Given the description of an element on the screen output the (x, y) to click on. 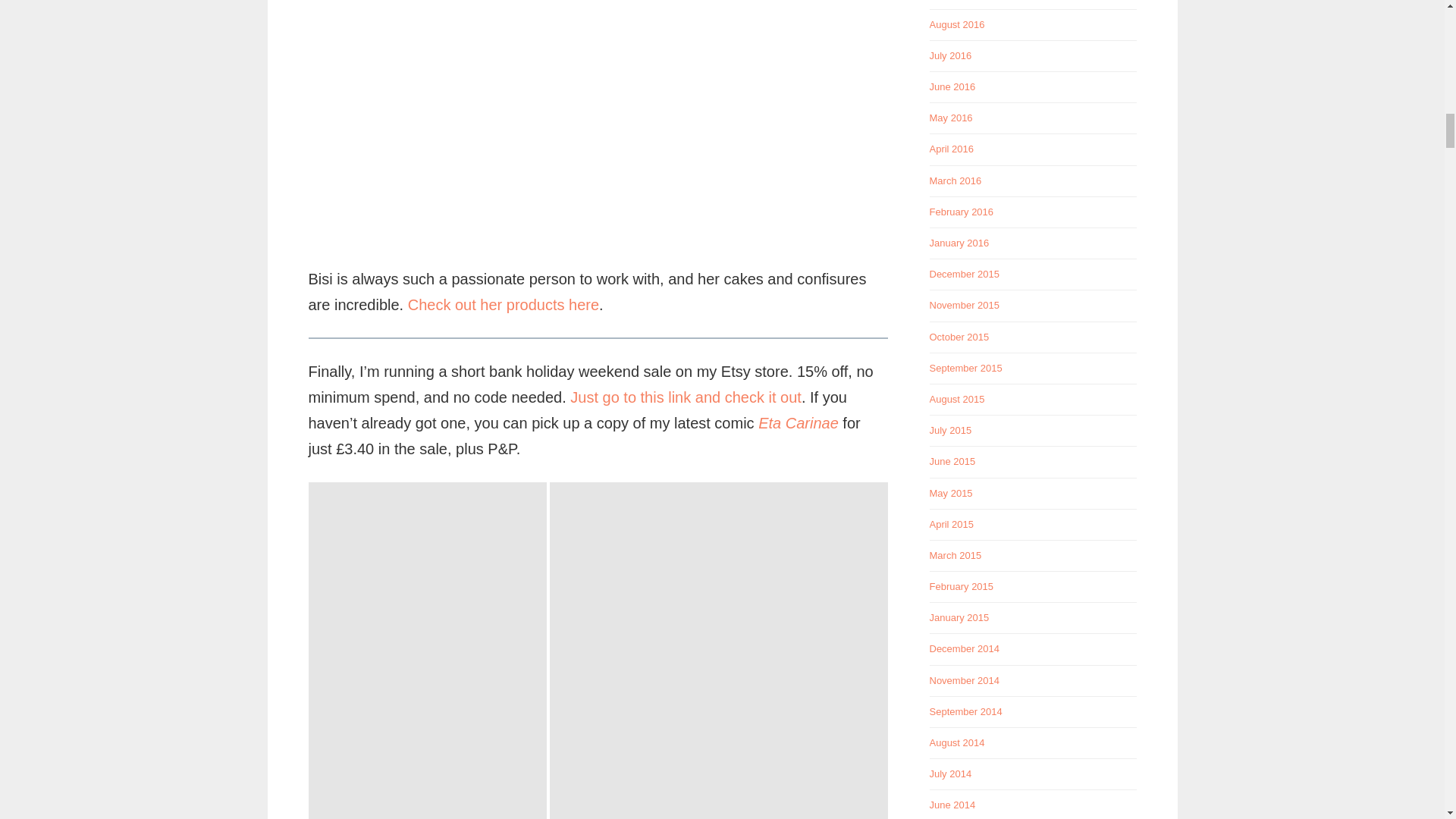
Check out her products here (502, 304)
Eta Carinae (798, 422)
Just go to this link and check it out (686, 397)
